Given the description of an element on the screen output the (x, y) to click on. 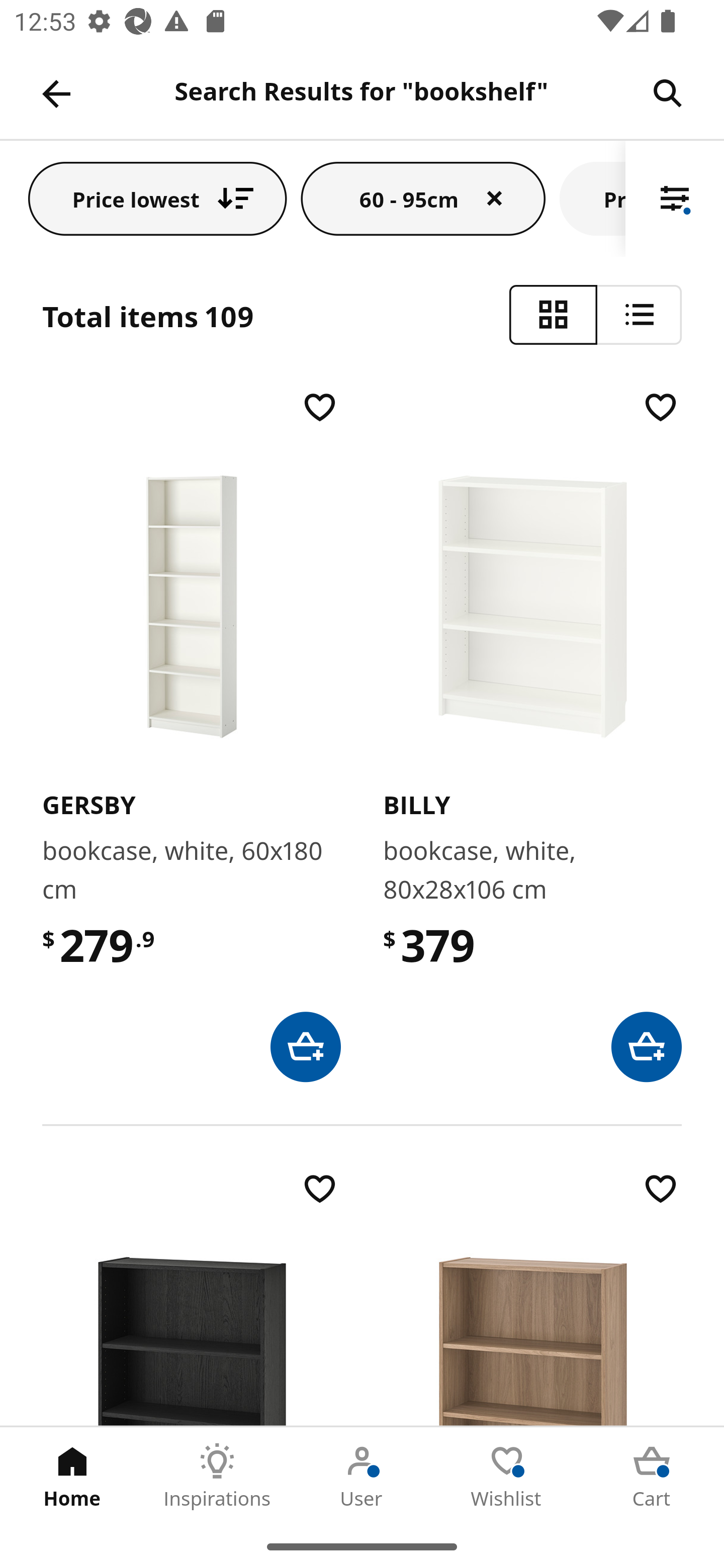
Price lowest (157, 198)
60 - 95cm (423, 198)
​G​E​R​S​B​Y​
bookcase, white, 60x180 cm
$
279
.9 (191, 734)
​B​I​L​L​Y​
bookcase, white, 80x28x106 cm
$
379 (532, 734)
Home
Tab 1 of 5 (72, 1476)
Inspirations
Tab 2 of 5 (216, 1476)
User
Tab 3 of 5 (361, 1476)
Wishlist
Tab 4 of 5 (506, 1476)
Cart
Tab 5 of 5 (651, 1476)
